Given the description of an element on the screen output the (x, y) to click on. 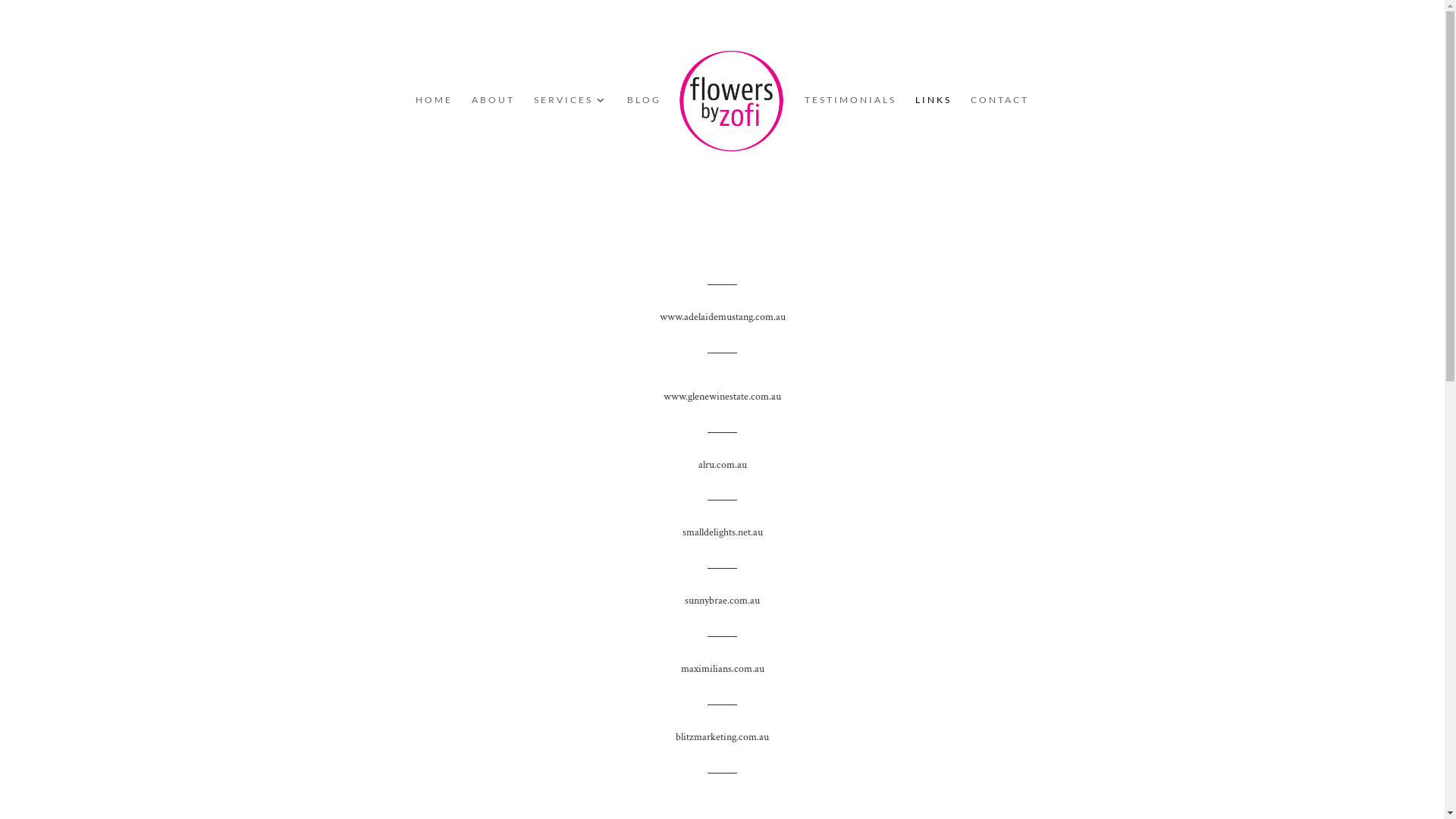
sunnybrae.com.au Element type: text (721, 600)
maximilians.com.au Element type: text (722, 668)
blitzmarketing.com.au Element type: text (721, 736)
ABOUT Element type: text (492, 135)
BLOG Element type: text (644, 135)
CONTACT Element type: text (999, 135)
www.adelaidemustang.com.au Element type: text (722, 316)
alru.com.au Element type: text (721, 464)
SERVICES Element type: text (570, 135)
smalldelights.net.au Element type: text (722, 532)
LINKS Element type: text (933, 135)
HOME Element type: text (433, 135)
TESTIMONIALS Element type: text (850, 135)
www.glenewinestate.com.au Element type: text (722, 396)
